Given the description of an element on the screen output the (x, y) to click on. 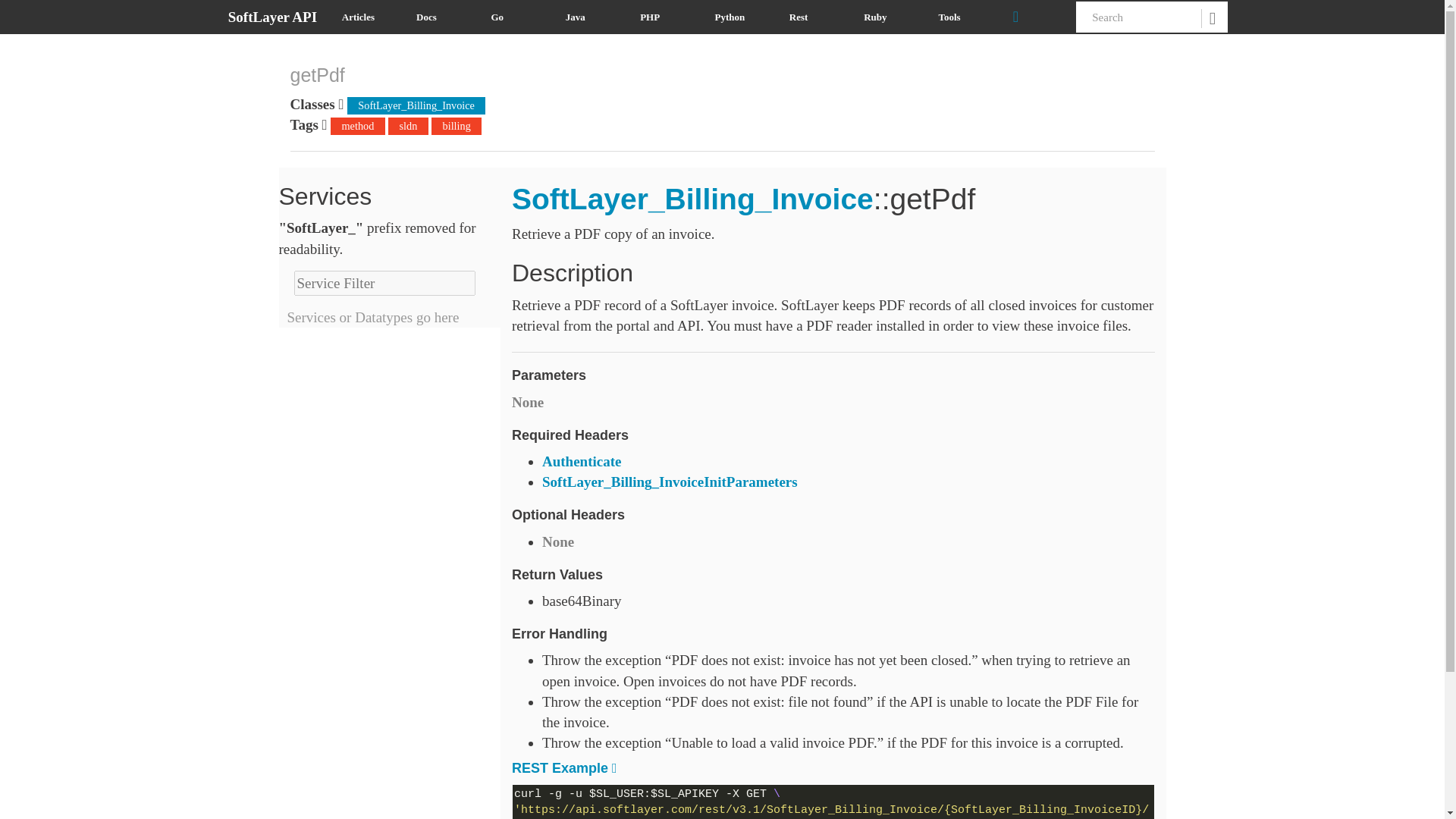
Ruby (888, 17)
method (357, 126)
Java (591, 17)
Tools (963, 17)
Rest (814, 17)
Authenticate (581, 461)
Python (740, 17)
REST Example (560, 767)
PHP (665, 17)
sldn (408, 126)
